Given the description of an element on the screen output the (x, y) to click on. 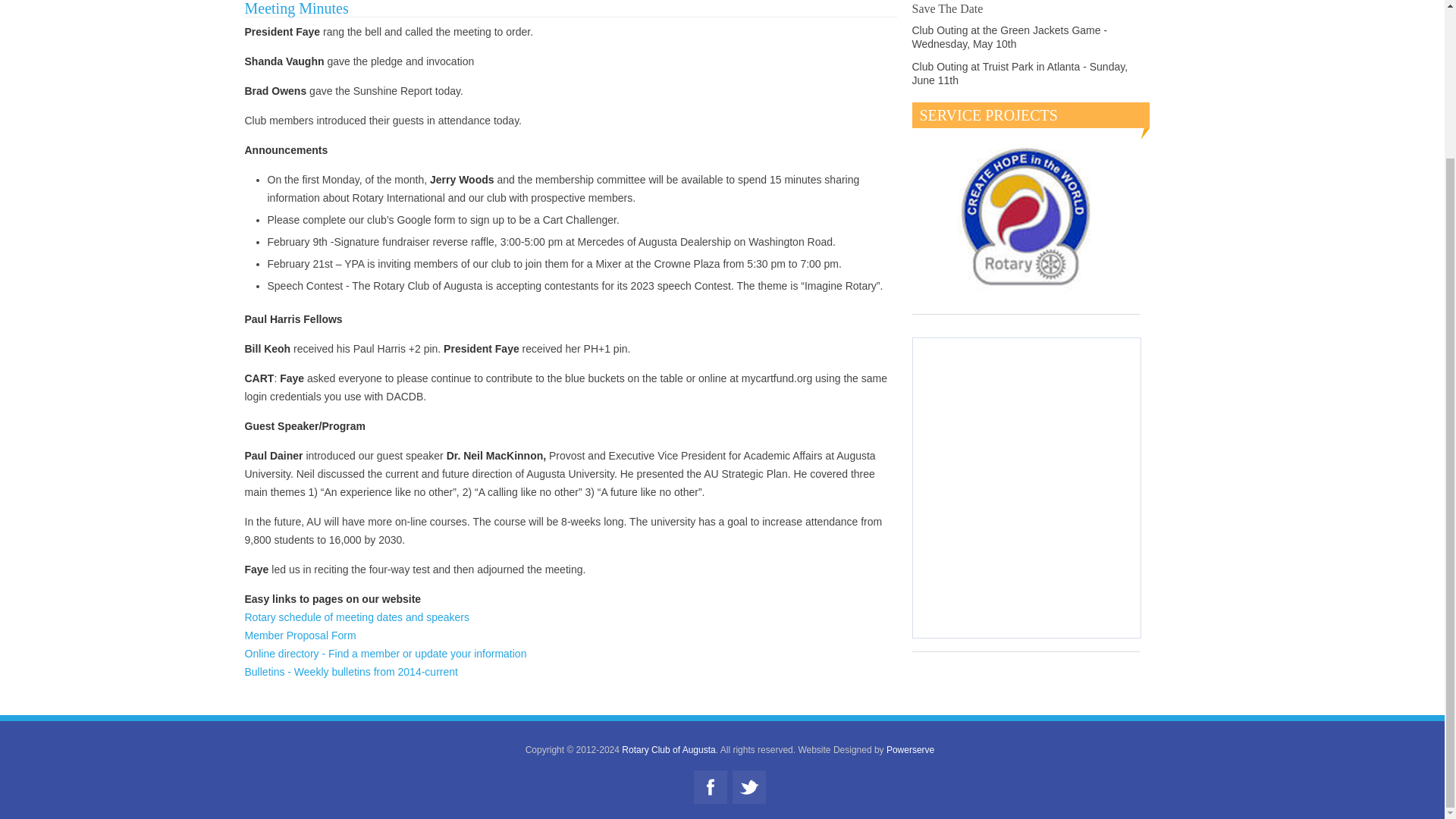
Member Proposal Form (299, 635)
Online directory - Find a member or update your information (384, 653)
Rotary Club of Augusta (667, 749)
Rotary schedule of meeting dates and speakers (356, 616)
Bulletins - Weekly bulletins from 2014-current (350, 671)
NEW MEMBERS (609, 11)
Powerserve (910, 749)
